Given the description of an element on the screen output the (x, y) to click on. 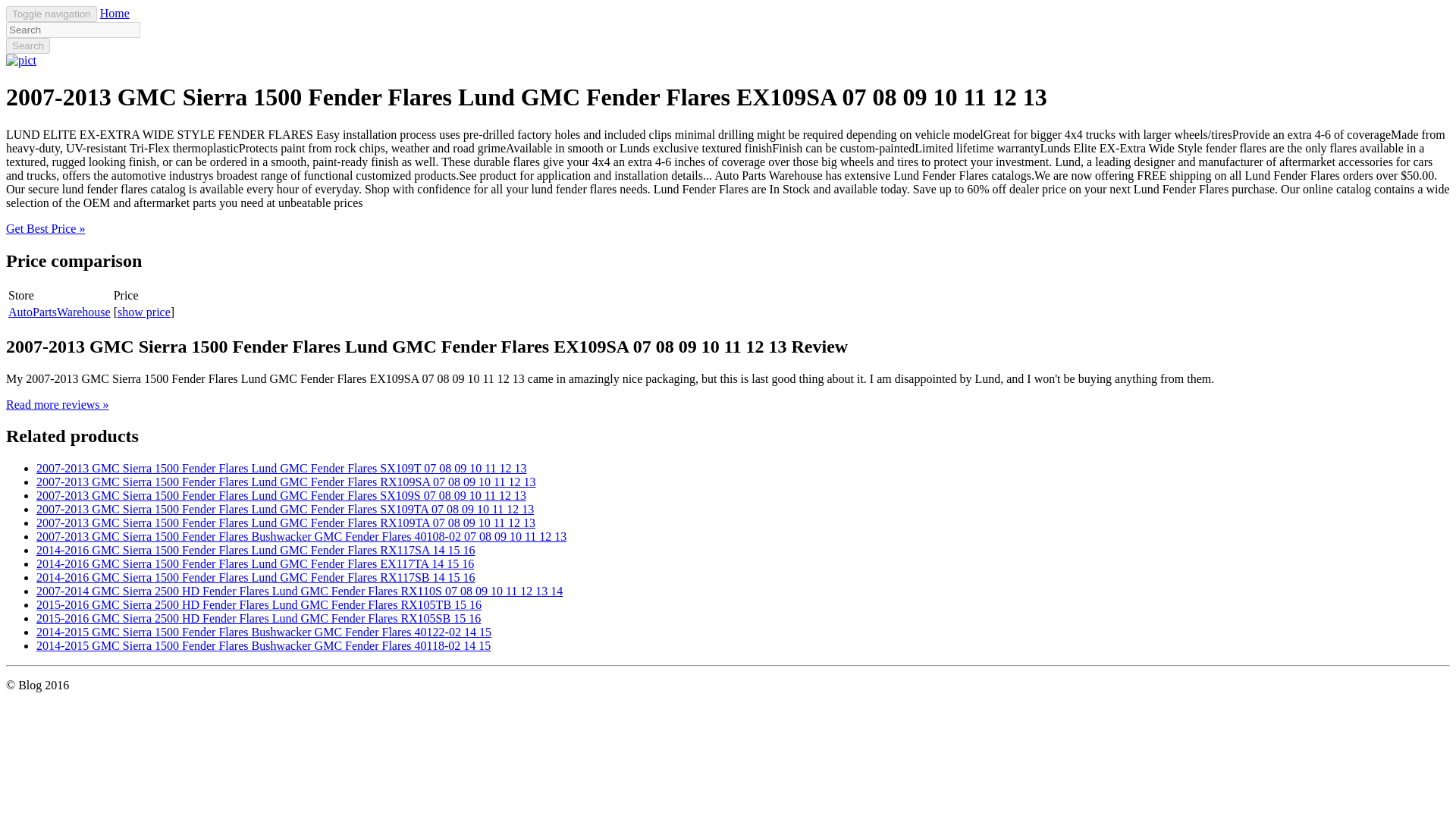
show price (143, 311)
Search (27, 45)
